Given the description of an element on the screen output the (x, y) to click on. 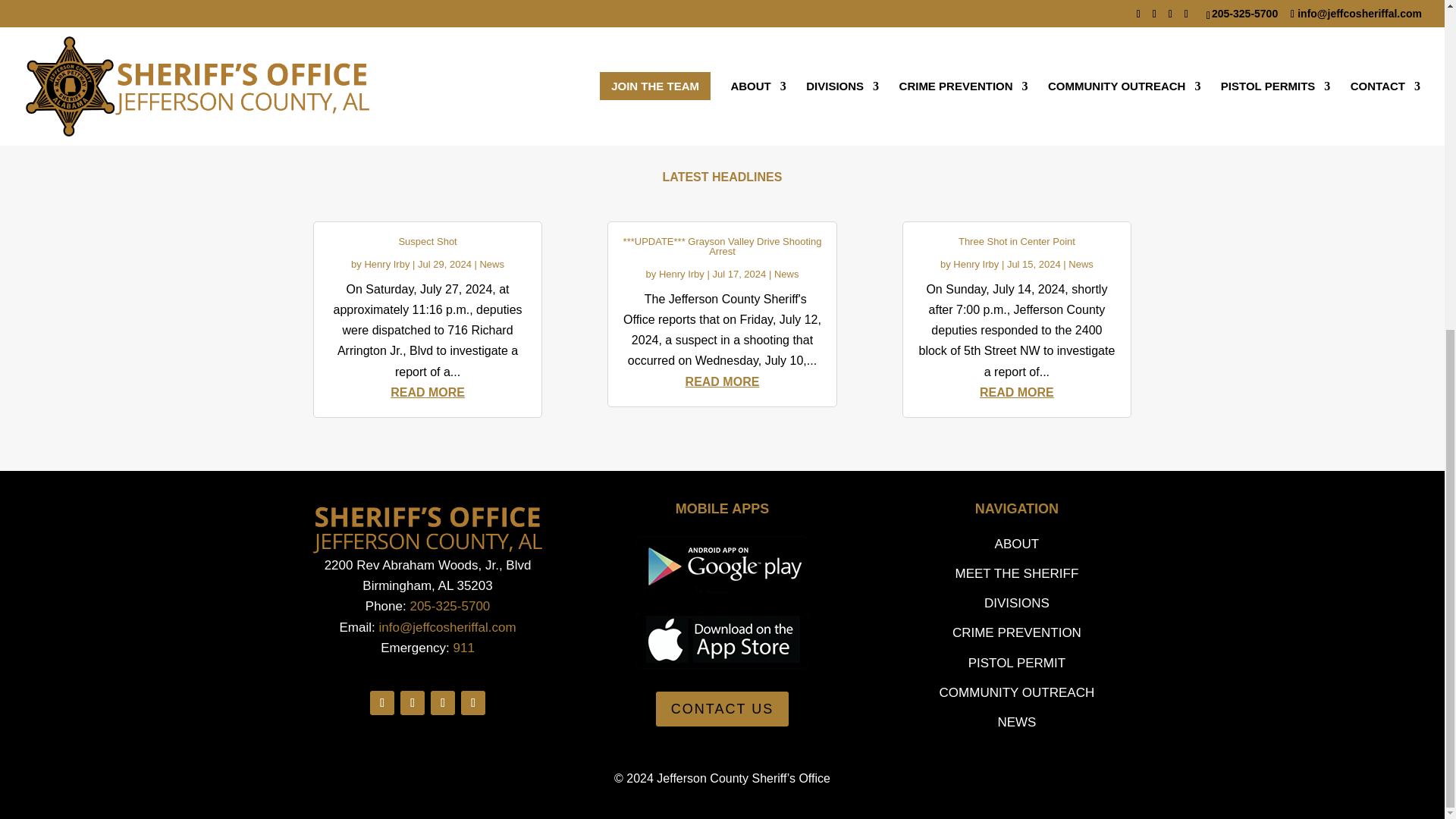
Posts by Henry Irby (681, 274)
Follow on Instagram (472, 702)
Jeff Co Sheriff Dept Website Footer Logo 5.27.20 (427, 529)
Posts by Henry Irby (386, 264)
Follow on Facebook (381, 702)
Posts by Henry Irby (975, 264)
Follow on Youtube (442, 702)
Follow on X (412, 702)
